Given the description of an element on the screen output the (x, y) to click on. 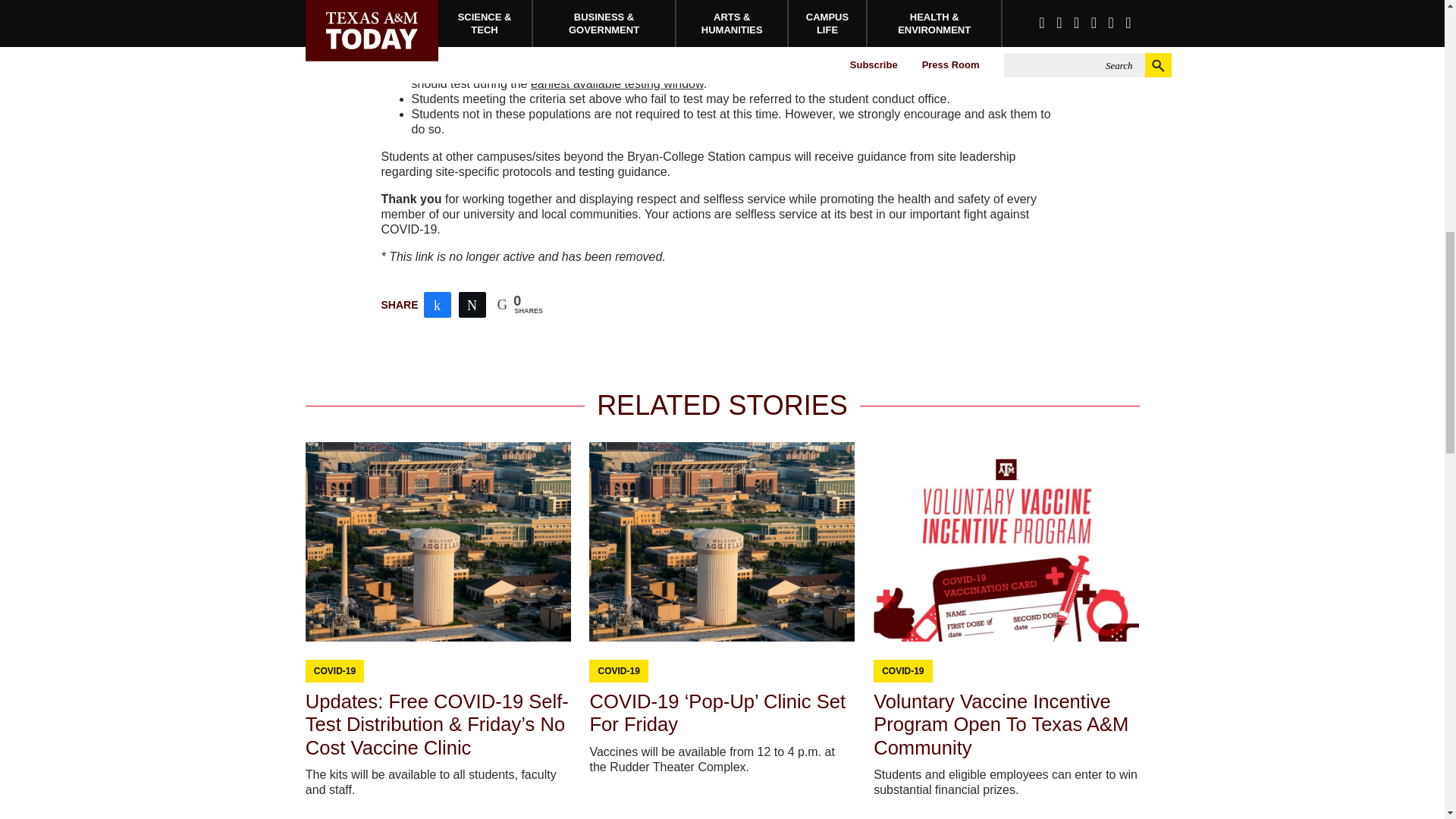
COVID-19 (618, 669)
COVID-19 (903, 669)
COVID-19 (334, 669)
